Given the description of an element on the screen output the (x, y) to click on. 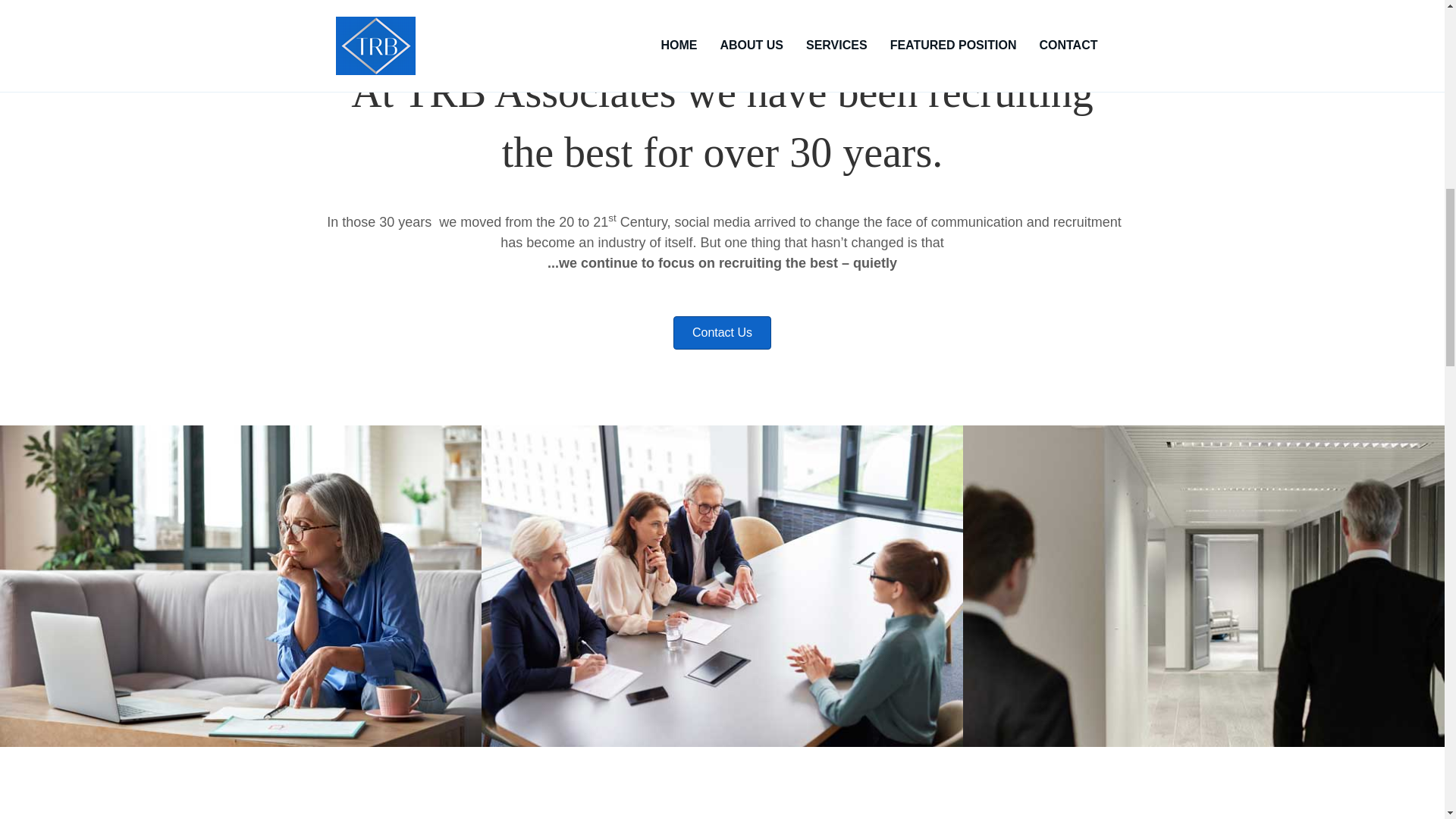
Contact Us (721, 332)
mediumsmall (513, 816)
